Given the description of an element on the screen output the (x, y) to click on. 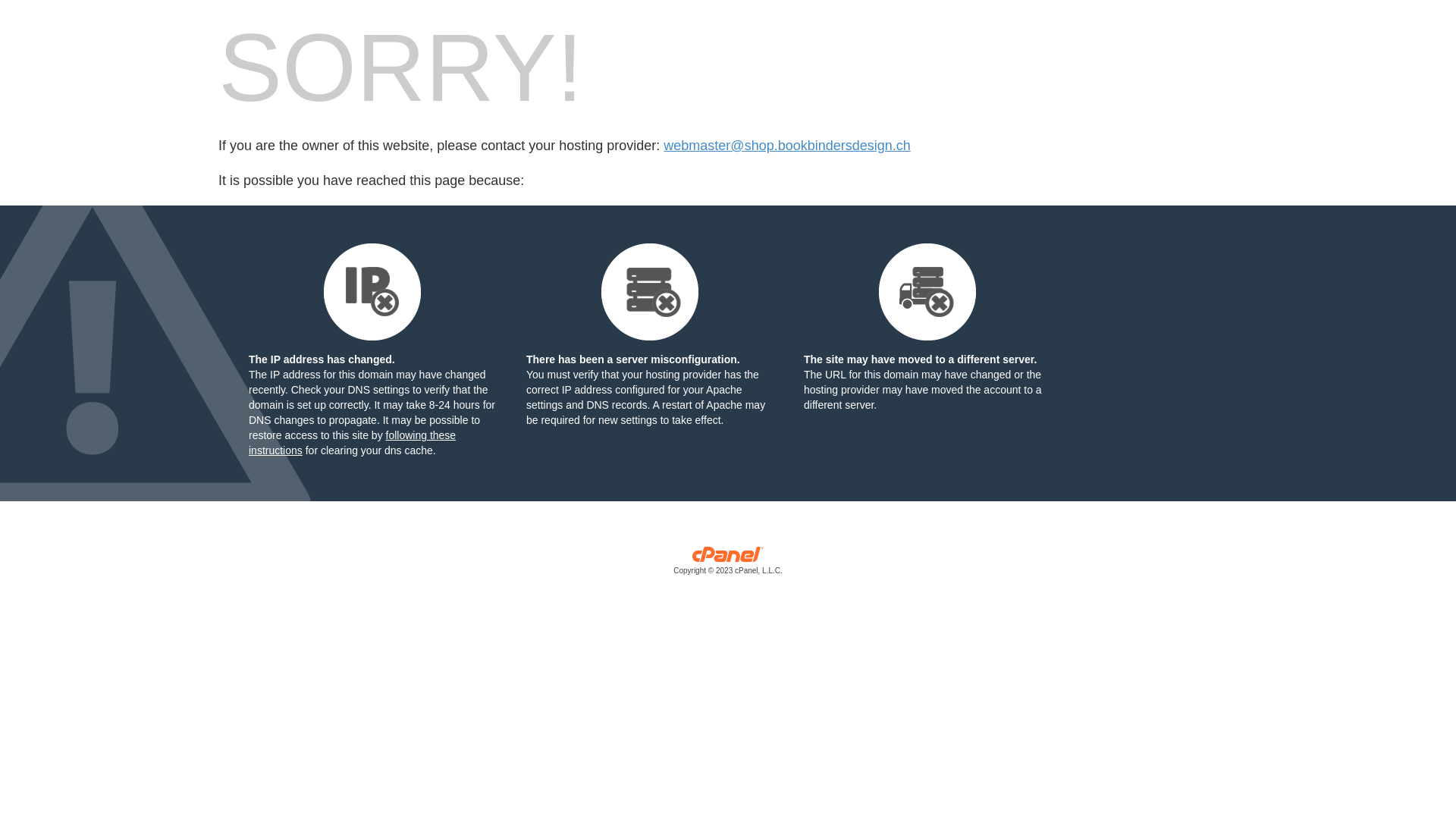
following these instructions Element type: text (351, 442)
webmaster@shop.bookbindersdesign.ch Element type: text (786, 145)
